Given the description of an element on the screen output the (x, y) to click on. 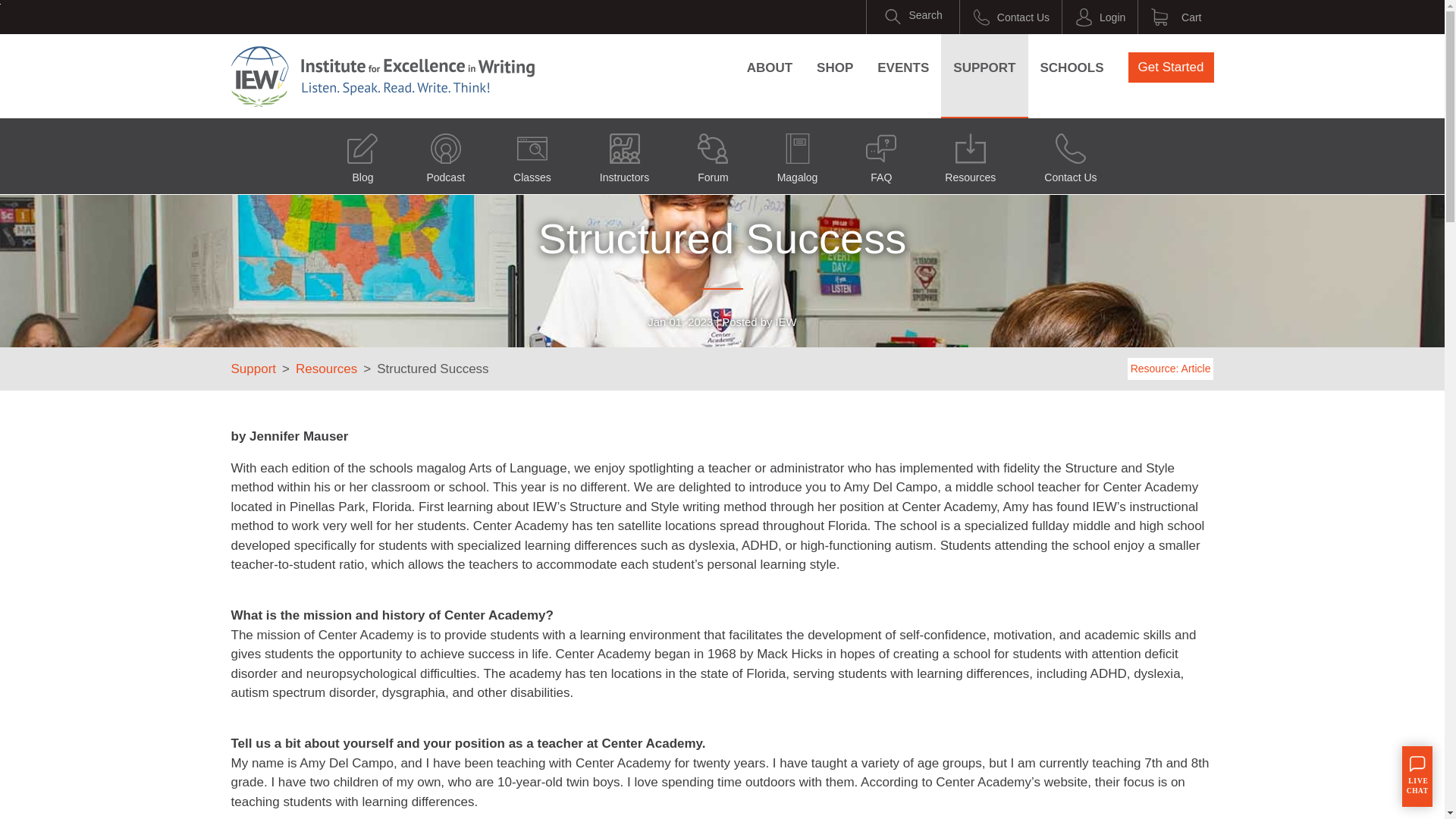
SCHOOLS (1071, 67)
EVENTS (902, 67)
Contact Us (1010, 16)
Resources (970, 154)
Login (1099, 16)
IEW (382, 76)
Contact Us (1070, 154)
Instructors (624, 154)
Cart (1175, 17)
Search (912, 16)
SUPPORT (983, 67)
SHOP (834, 67)
ABOUT (770, 67)
